Given the description of an element on the screen output the (x, y) to click on. 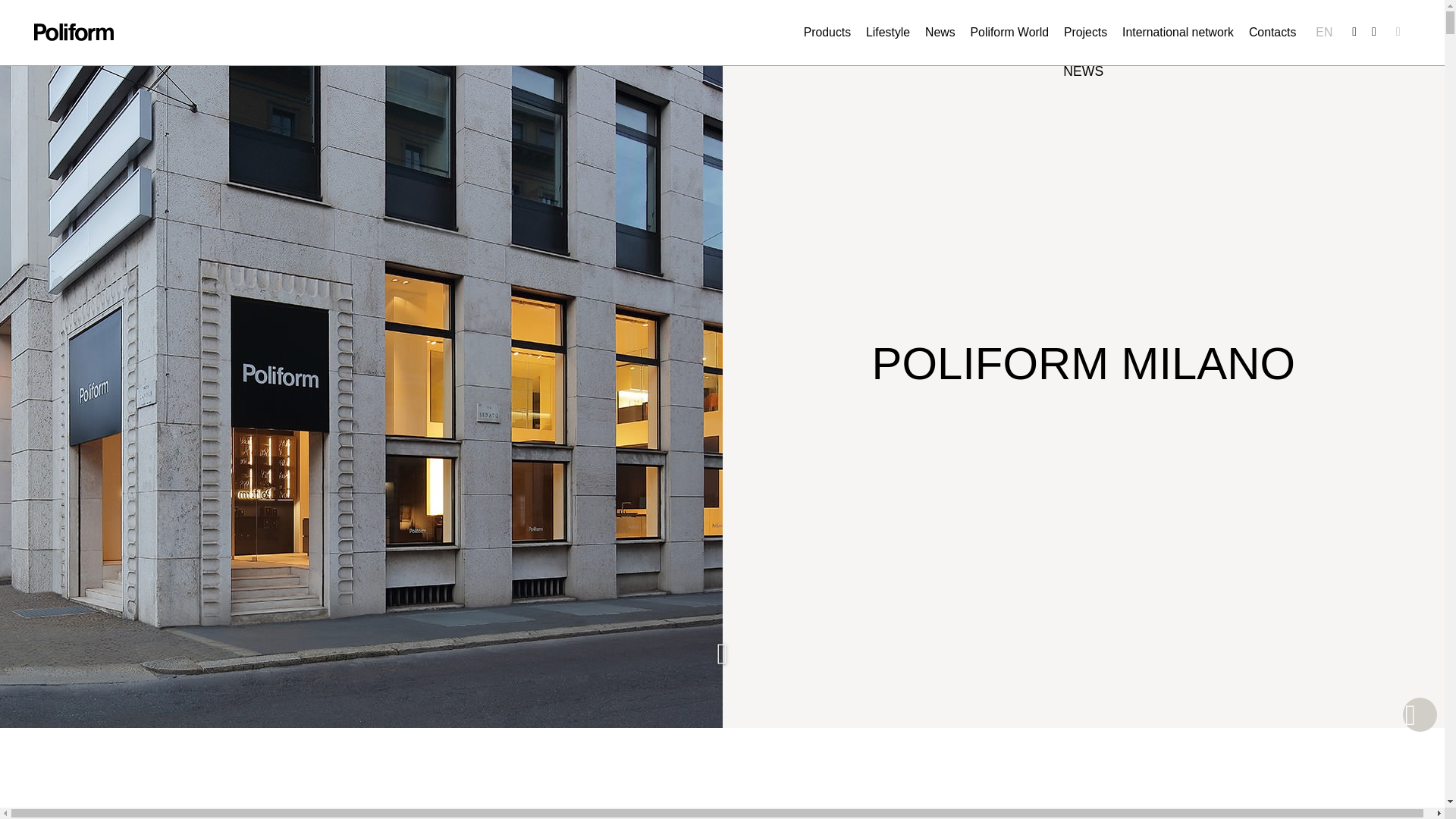
Poliform (73, 31)
Projects (1085, 32)
Poliform World (1010, 32)
Contacts (1272, 32)
International network (1177, 32)
News (939, 32)
EN (1323, 32)
Lifestyle (888, 32)
Products (826, 32)
